Given the description of an element on the screen output the (x, y) to click on. 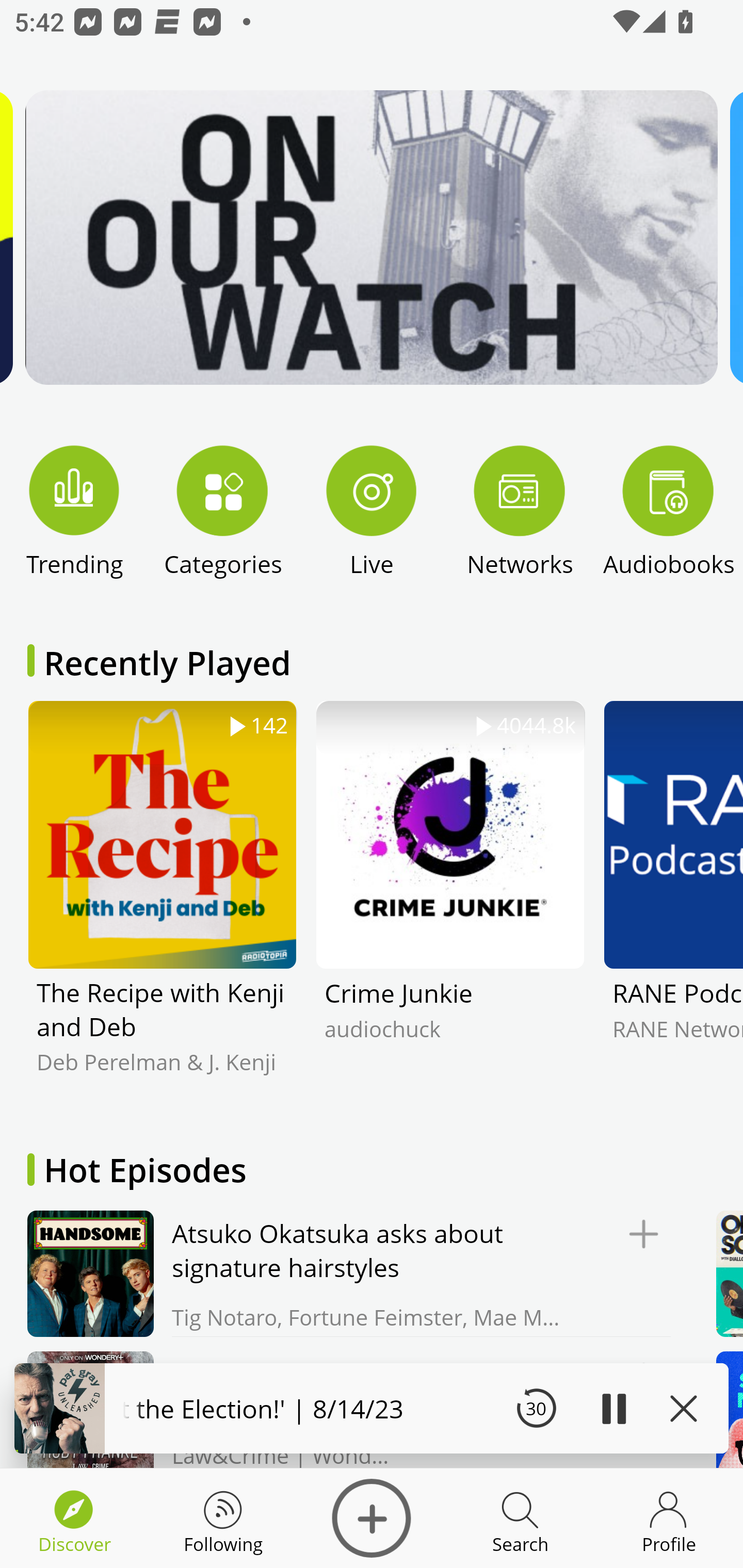
4044.8k Crime Junkie audiochuck (450, 902)
RANE Podcast Series RANE Network (673, 902)
Play (613, 1407)
30 Seek Backward (536, 1407)
Discover Following (222, 1518)
Discover (371, 1518)
Discover Search (519, 1518)
Discover Profile (668, 1518)
